Given the description of an element on the screen output the (x, y) to click on. 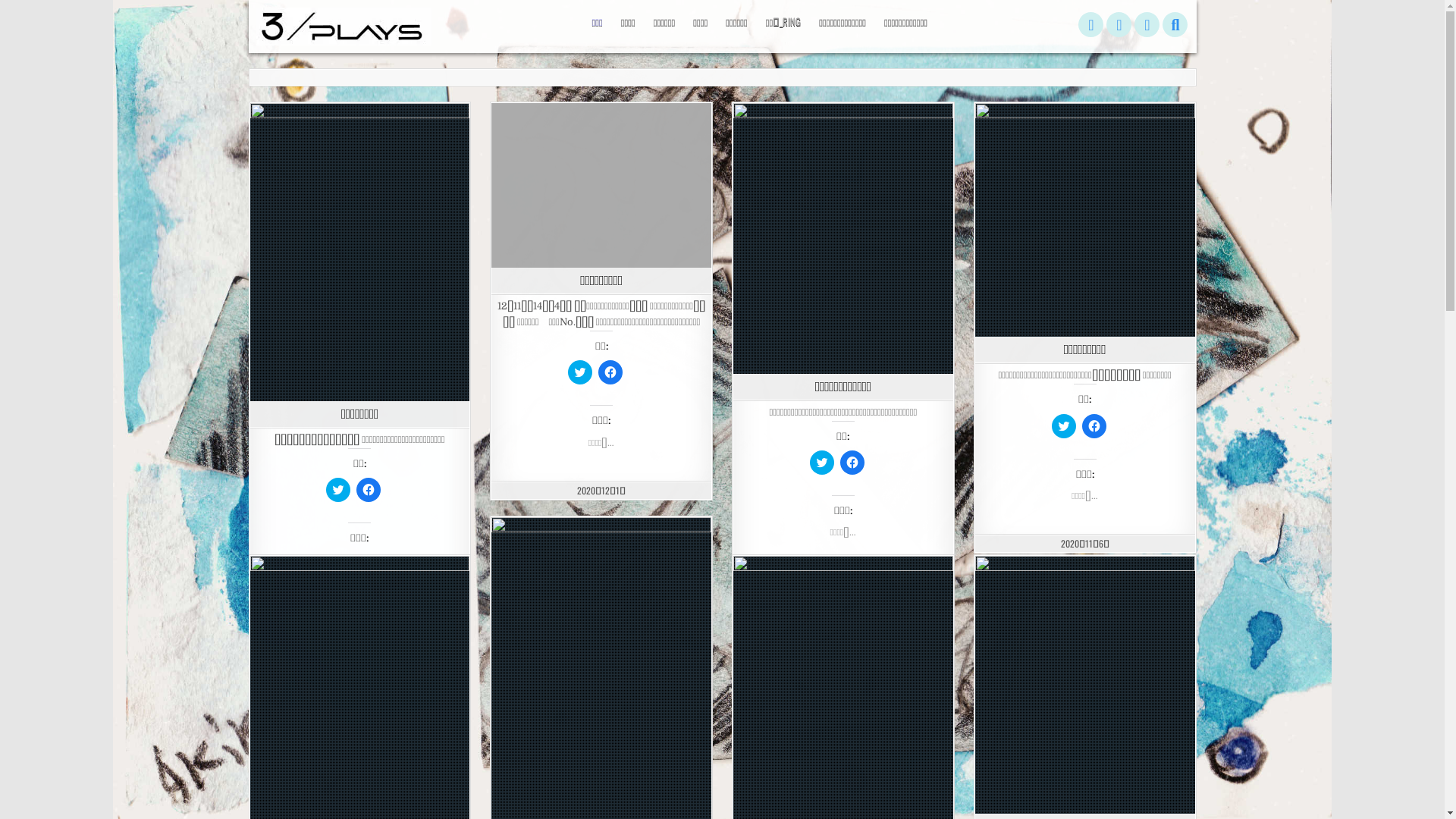
Instagram Element type: hover (1146, 24)
Twitter Element type: hover (1090, 24)
Facebook Element type: hover (1118, 24)
Search Element type: hover (1174, 24)
